Given the description of an element on the screen output the (x, y) to click on. 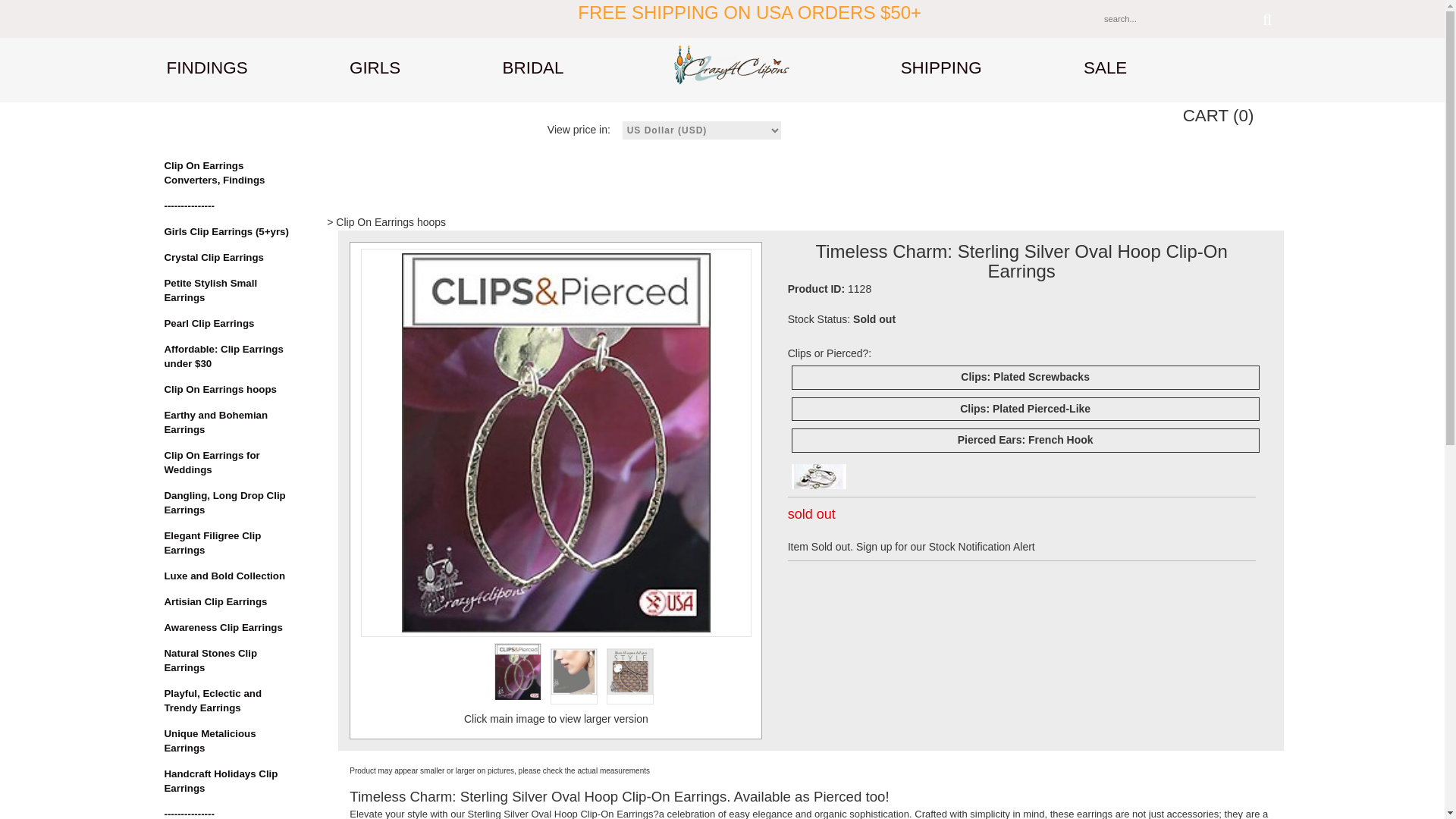
Handcraft Holidays Clip Earrings (227, 781)
Crystal Clip Earrings (227, 257)
Clip On Earrings for Weddings (227, 462)
Elegant Filigree Clip Earrings (227, 543)
Clip On Earrings Converters, Findings (227, 173)
Earthy and Bohemian Earrings (227, 422)
--------------- (227, 206)
GIRLS (374, 68)
SHIPPING (941, 68)
Clip On Earrings hoops (227, 390)
--------------- (227, 813)
FINDINGS (207, 68)
Pearl Clip Earrings (227, 323)
0c13.jpg (818, 476)
Playful, Eclectic and Trendy Earrings (227, 701)
